Given the description of an element on the screen output the (x, y) to click on. 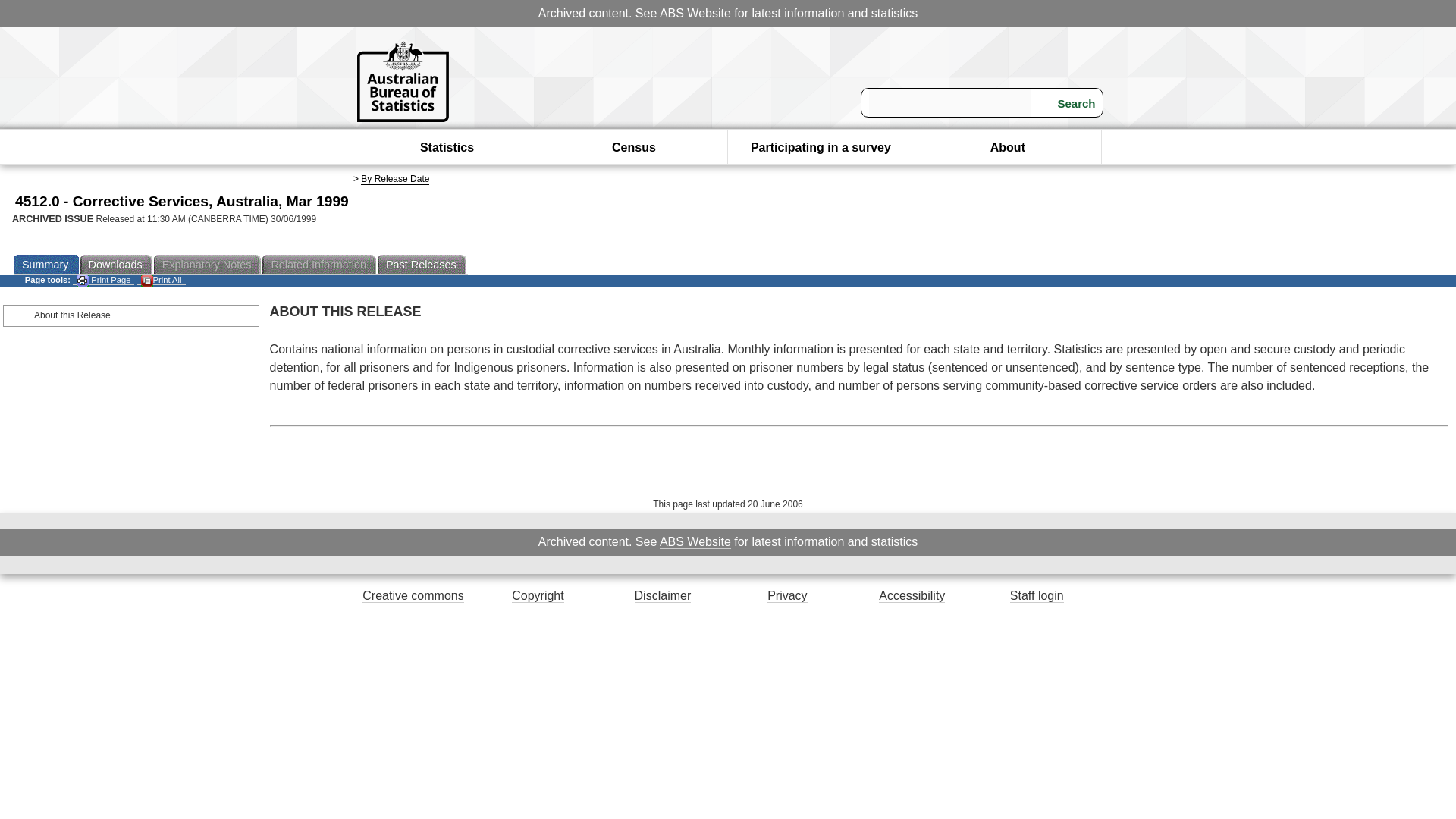
Past Releases (422, 264)
ABS Website (694, 541)
Related Information (319, 264)
Search (1066, 102)
Creative commons (412, 595)
Census (633, 147)
Print All (161, 280)
ABS Website (694, 13)
Print All (161, 280)
View by Release Date (395, 179)
Print Page (102, 280)
ABS Website (694, 13)
Privacy (786, 595)
Search (1066, 102)
Disclaimer (662, 595)
